Given the description of an element on the screen output the (x, y) to click on. 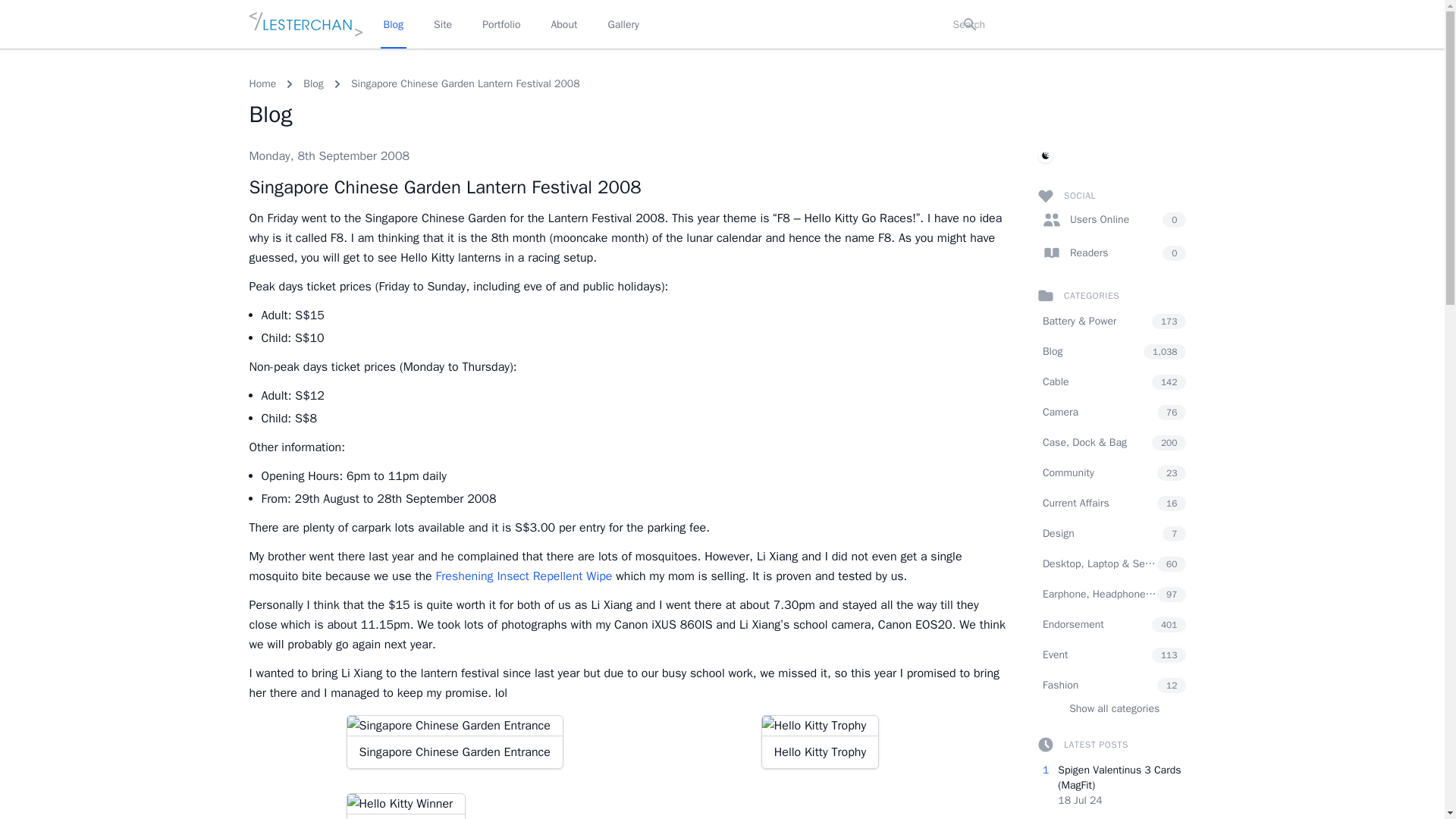
Singapore Chinese Garden Lantern Festival 2008 (464, 83)
Freshening Insect Repellent Wipe (523, 575)
Blog (312, 83)
Blog (393, 24)
Singapore Chinese Garden Lantern Festival 2008 (444, 187)
Portfolio (500, 24)
Lester Chan's Website (304, 24)
Site (442, 24)
Gallery (623, 24)
About (563, 24)
Singapore Chinese Garden Lantern Festival 2008 (464, 83)
Home (262, 83)
Blog (312, 83)
Home (262, 83)
Singapore Chinese Garden Lantern Festival 2008 (444, 187)
